Given the description of an element on the screen output the (x, y) to click on. 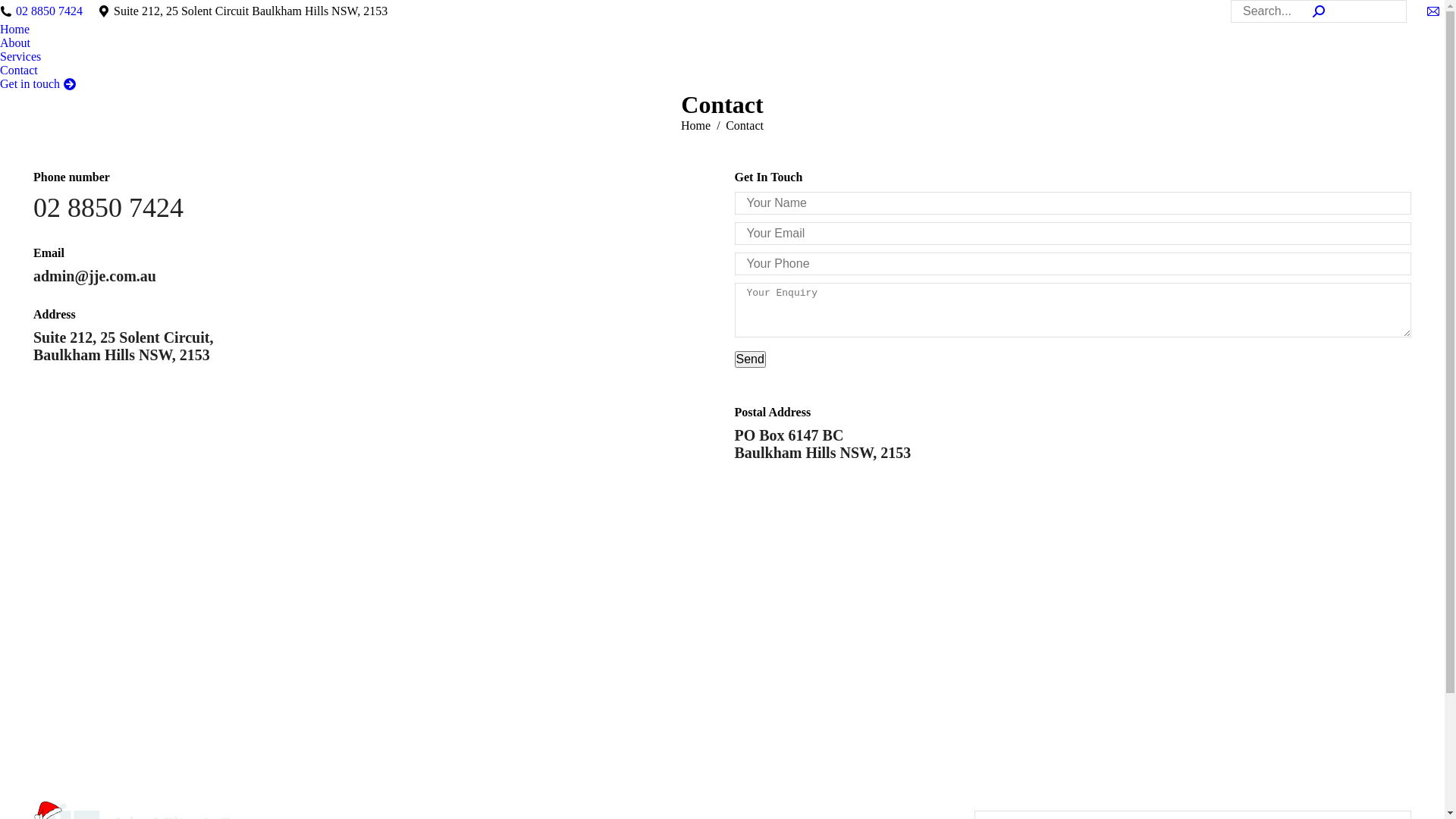
Send Element type: text (749, 359)
Mail Element type: text (1433, 11)
About Element type: text (15, 43)
Home Element type: text (14, 29)
02 8850 7424 Element type: text (48, 11)
02 8850 7424 Element type: text (108, 207)
Get in touch Element type: text (38, 84)
admin@jje.com.au Element type: text (94, 275)
Services Element type: text (20, 56)
Home Element type: text (695, 125)
Go! Element type: text (11, 8)
Contact Element type: text (18, 70)
